Given the description of an element on the screen output the (x, y) to click on. 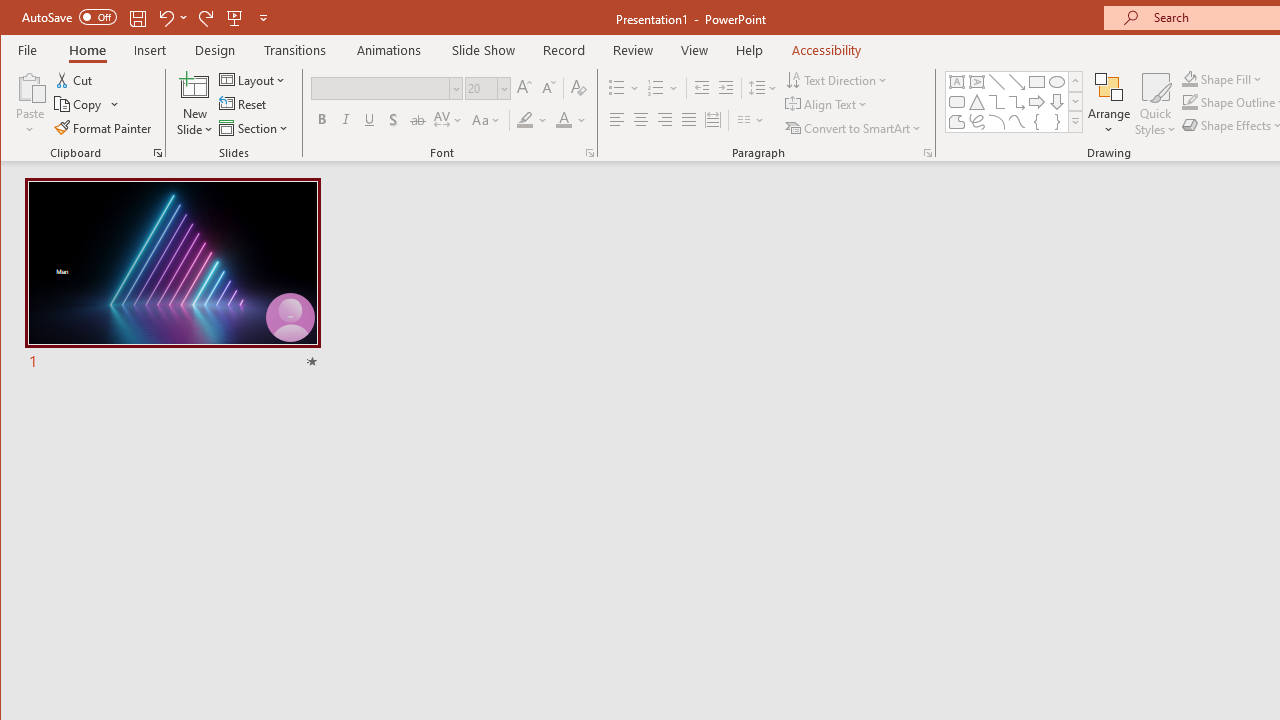
Convert to SmartArt (855, 127)
Curve (1016, 121)
Shape Fill Orange, Accent 2 (1189, 78)
Text Direction (837, 80)
Line Spacing (764, 88)
Format Painter (104, 127)
